Given the description of an element on the screen output the (x, y) to click on. 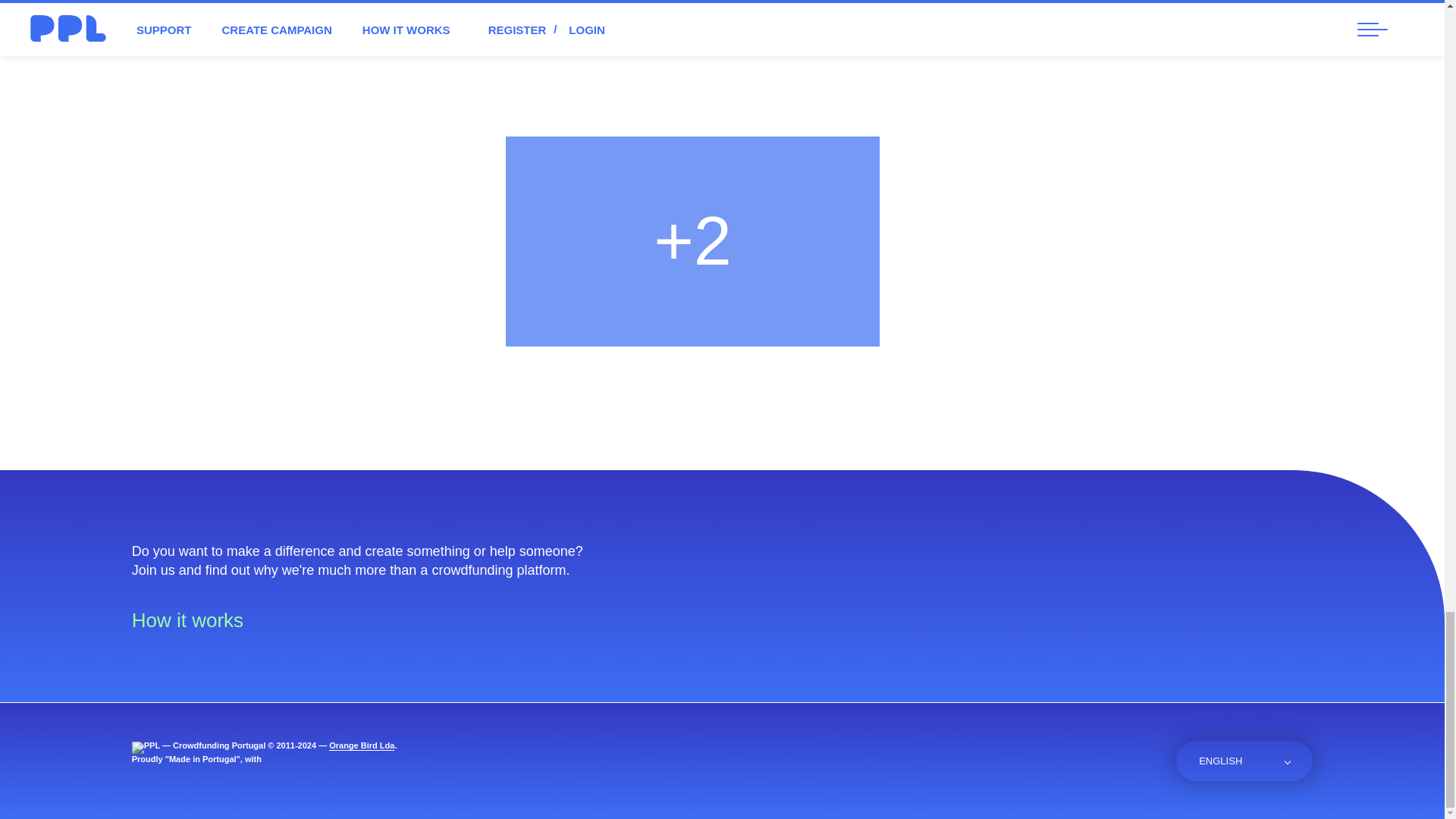
Instagram (1071, 762)
Blog (1110, 762)
Facebook (1033, 762)
